Given the description of an element on the screen output the (x, y) to click on. 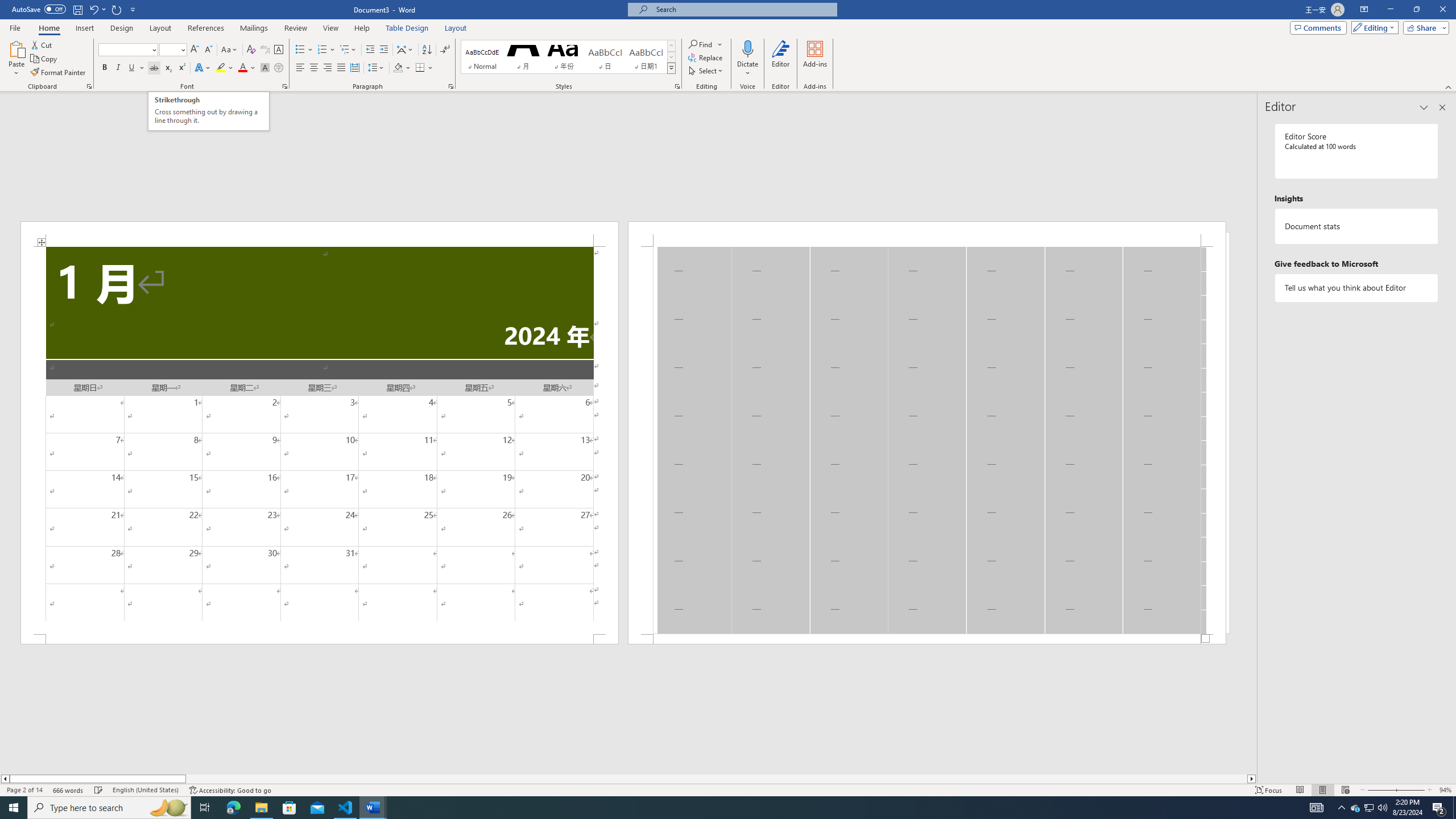
Page 2 content (926, 439)
Column right (1251, 778)
